Given the description of an element on the screen output the (x, y) to click on. 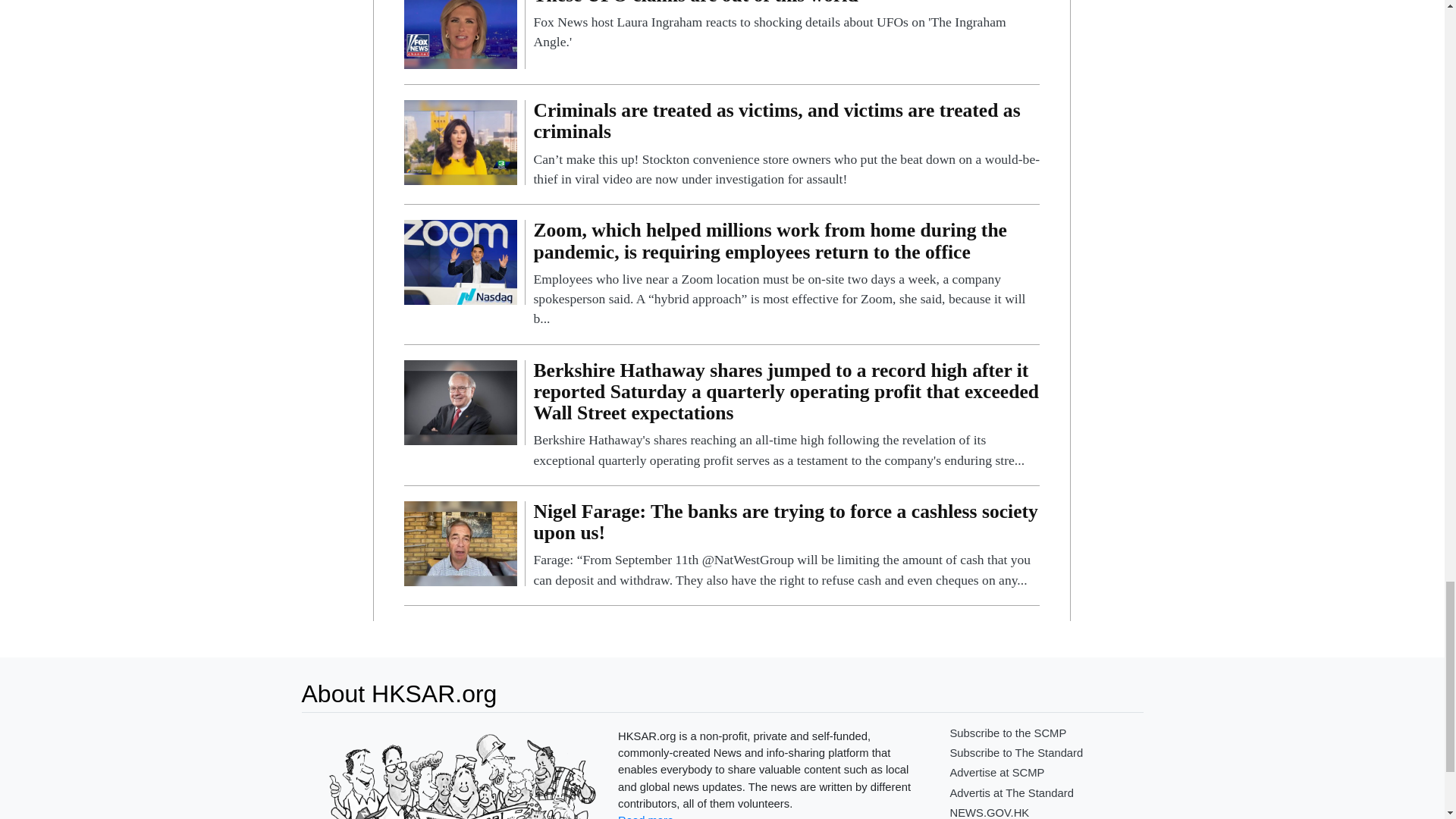
These UFO claims are out of this world (785, 26)
These UFO claims are out of this world (460, 25)
